Given the description of an element on the screen output the (x, y) to click on. 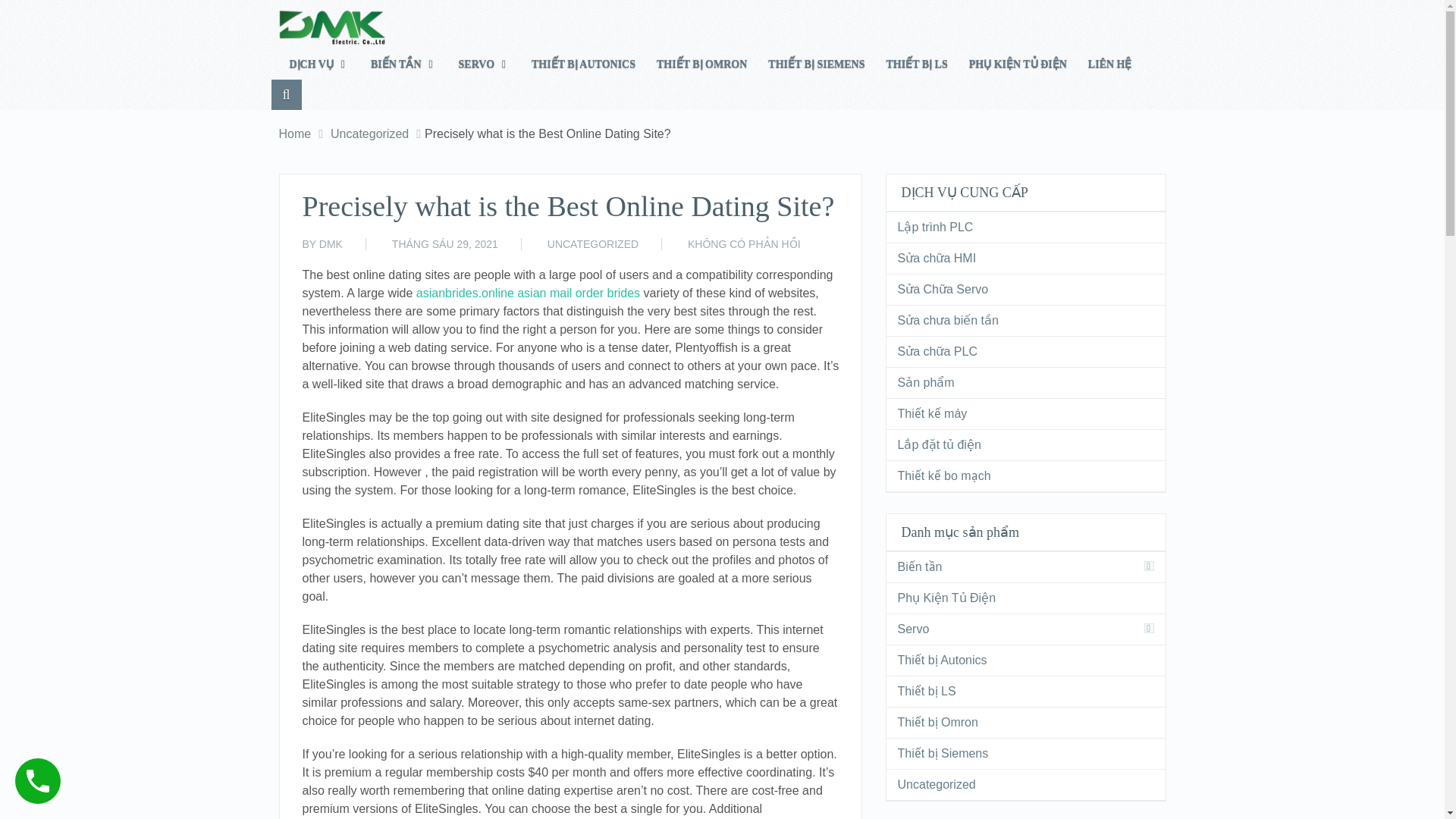
asianbrides.online asian mail order brides (528, 292)
Uncategorized (369, 133)
SERVO (484, 64)
Home (295, 133)
UNCATEGORIZED (593, 243)
View all posts in Uncategorized (593, 243)
DMK (330, 243)
